Given the description of an element on the screen output the (x, y) to click on. 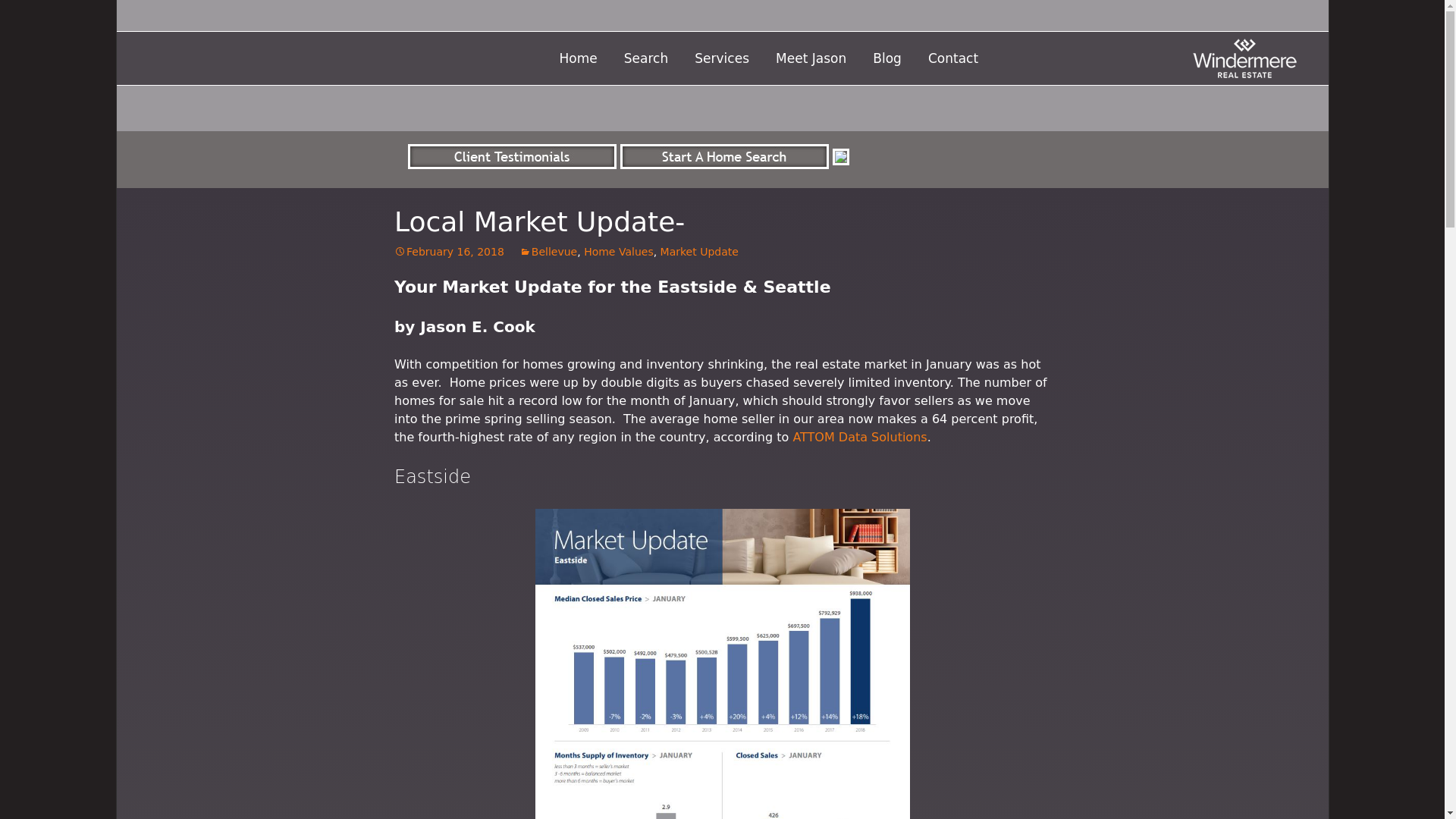
Home Values (618, 251)
Meet Jason (868, 89)
Basic Search (717, 89)
ATTOM Data Solutions (859, 436)
Bellevue (547, 251)
Visitor Login (651, 89)
Services (721, 58)
Search (645, 58)
